Given the description of an element on the screen output the (x, y) to click on. 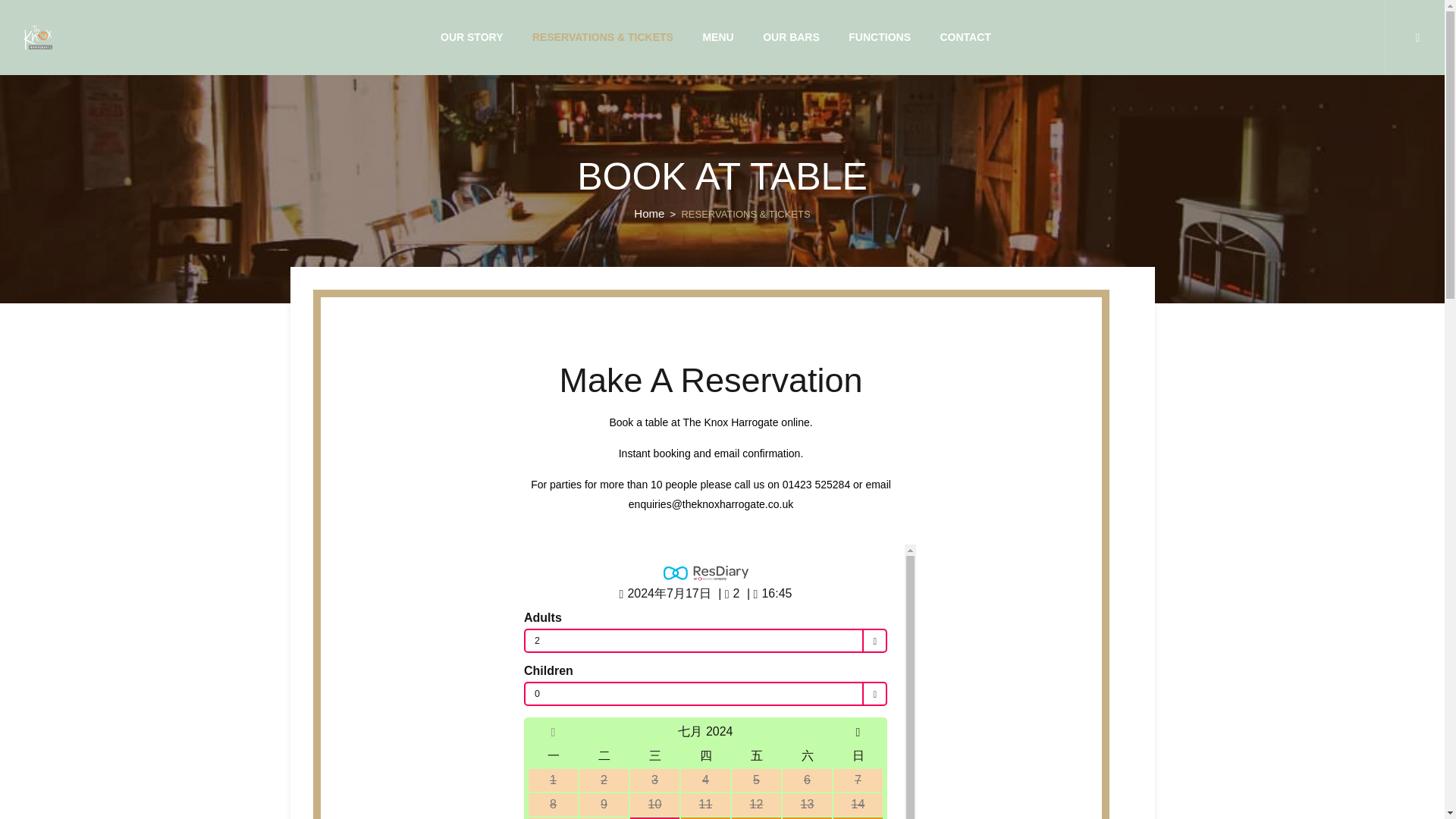
FUNCTIONS (879, 37)
MENU (717, 37)
OUR STORY (471, 37)
The Knox Harrogate (37, 37)
CONTACT (965, 37)
Home (648, 213)
Go to The Knox Harrogate. (648, 213)
OUR BARS (790, 37)
